Given the description of an element on the screen output the (x, y) to click on. 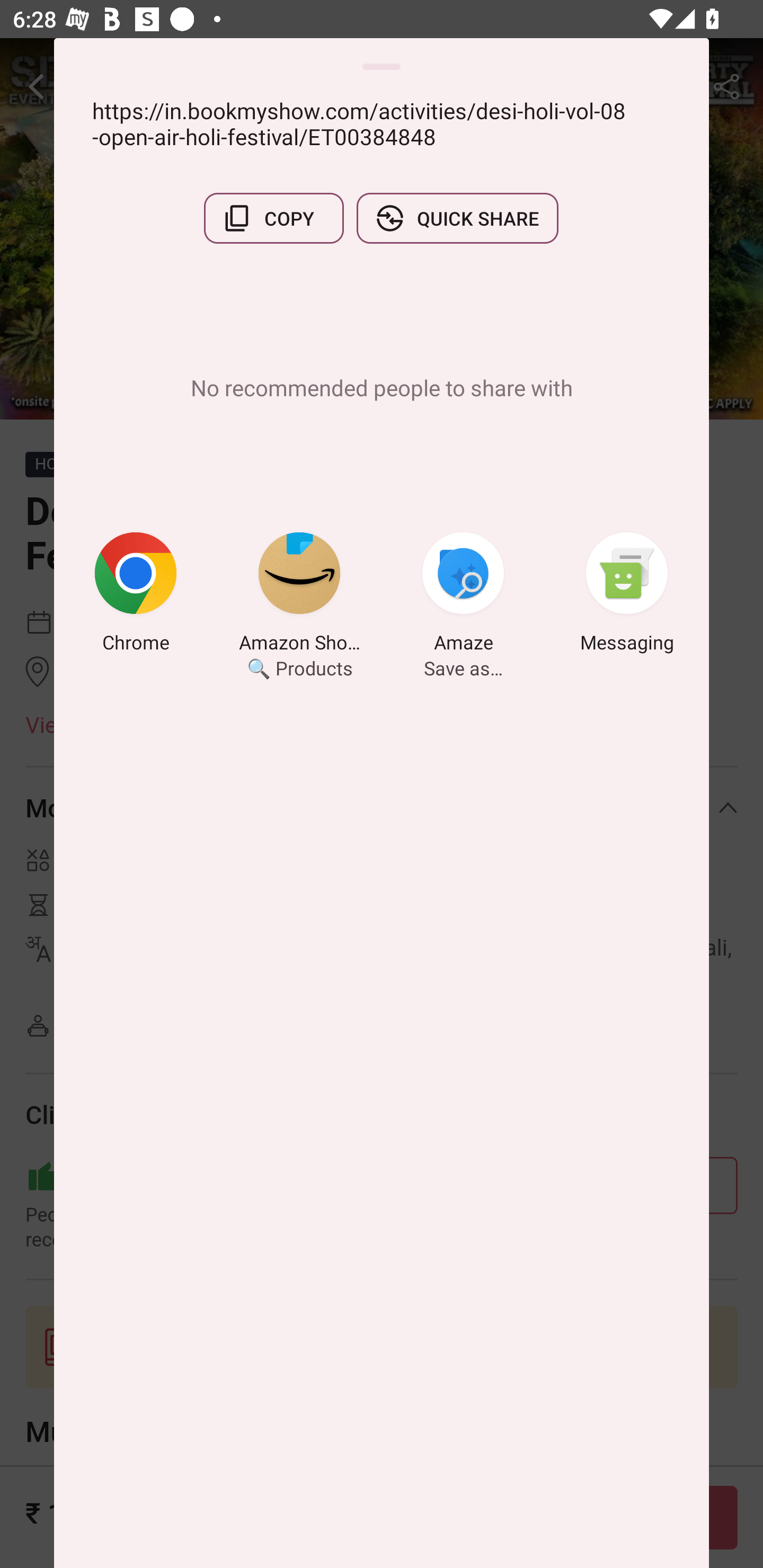
COPY (273, 218)
QUICK SHARE (457, 218)
Chrome (135, 594)
Amazon Shopping 🔍 Products (299, 594)
Amaze Save as… (463, 594)
Messaging (626, 594)
